Given the description of an element on the screen output the (x, y) to click on. 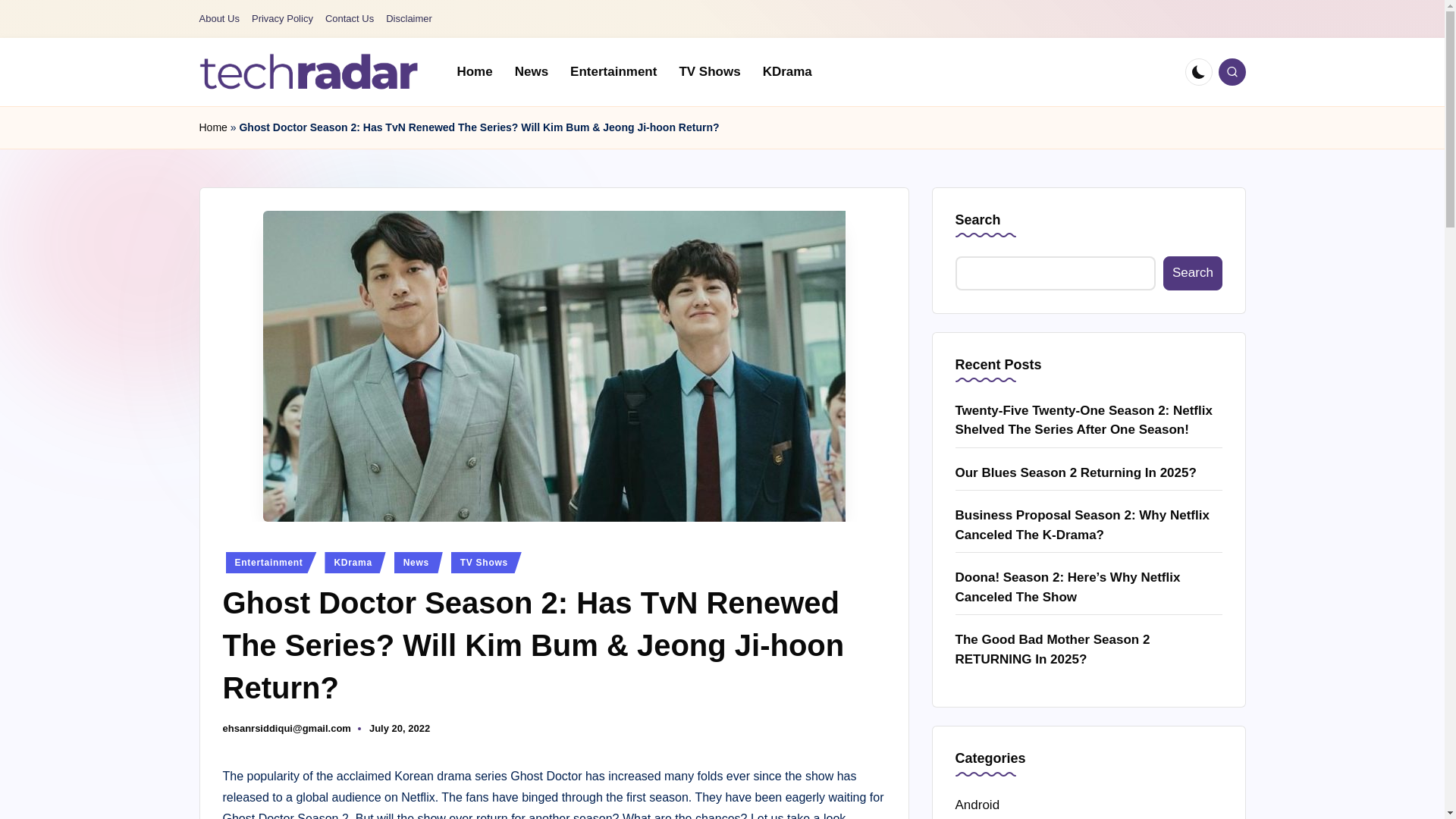
TV Shows (486, 562)
The Good Bad Mother Season 2 RETURNING In 2025? (1089, 649)
Search (1192, 273)
Entertainment (271, 562)
Privacy Policy (282, 18)
Home (473, 71)
Our Blues Season 2 Returning In 2025? (1089, 473)
Disclaimer (408, 18)
Contact Us (349, 18)
